Given the description of an element on the screen output the (x, y) to click on. 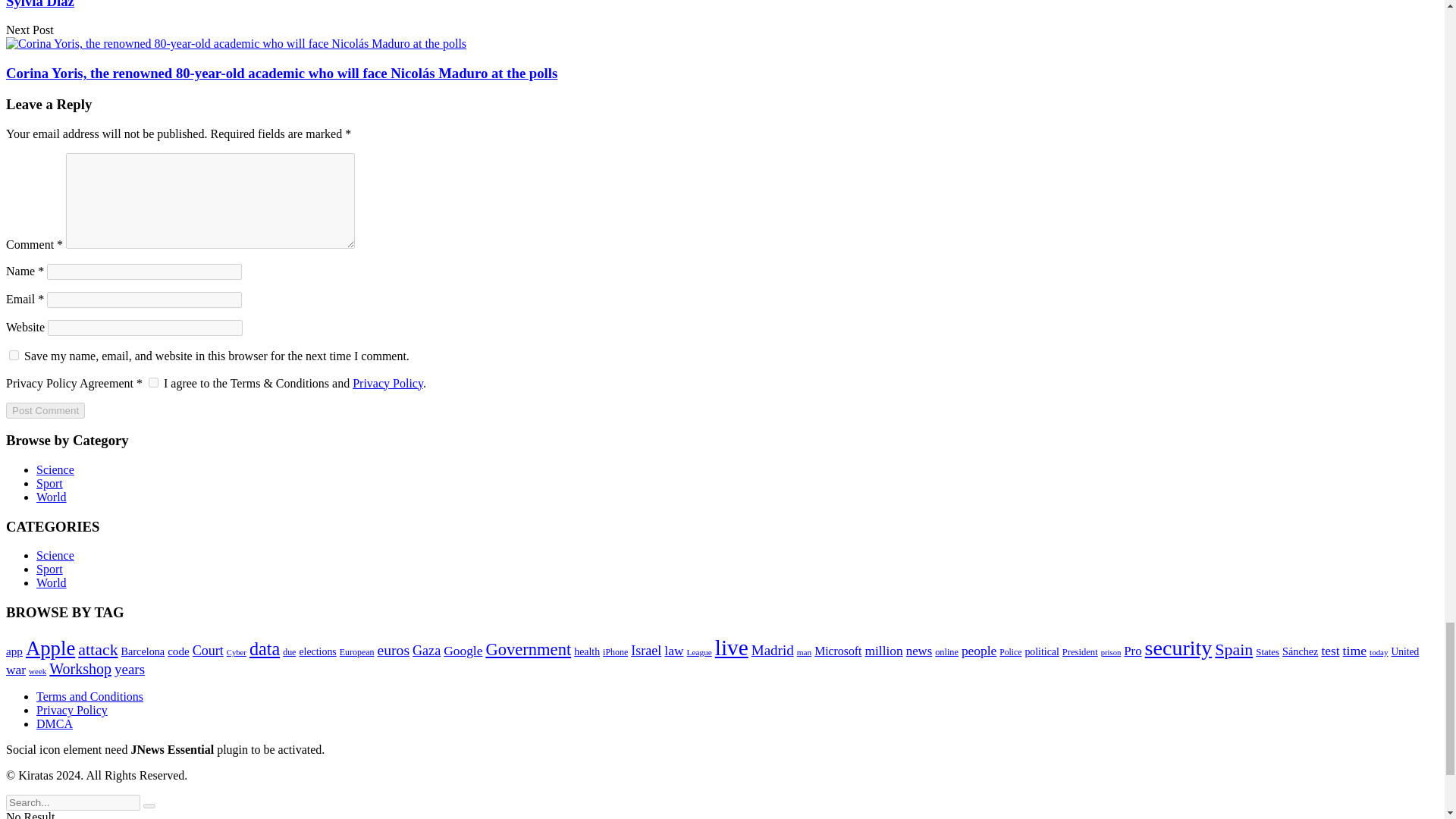
Post Comment (44, 410)
on (153, 382)
yes (13, 355)
Sylvia Diaz (39, 4)
Privacy Policy (387, 382)
